Given the description of an element on the screen output the (x, y) to click on. 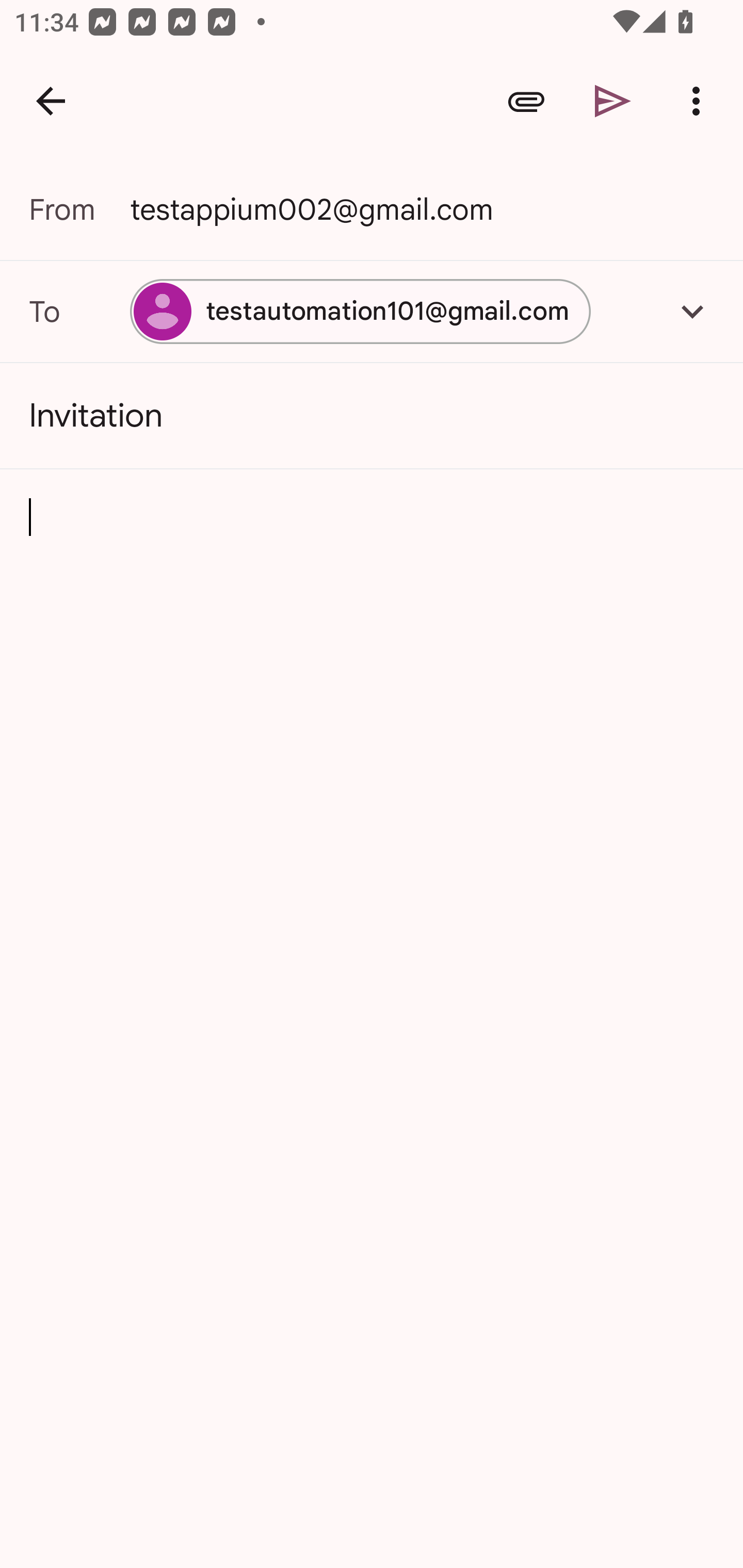
Navigate up (50, 101)
Attach file (525, 101)
Send (612, 101)
More options (699, 101)
From (79, 209)
Add Cc/Bcc (692, 311)
Invitation (371, 415)
